Given the description of an element on the screen output the (x, y) to click on. 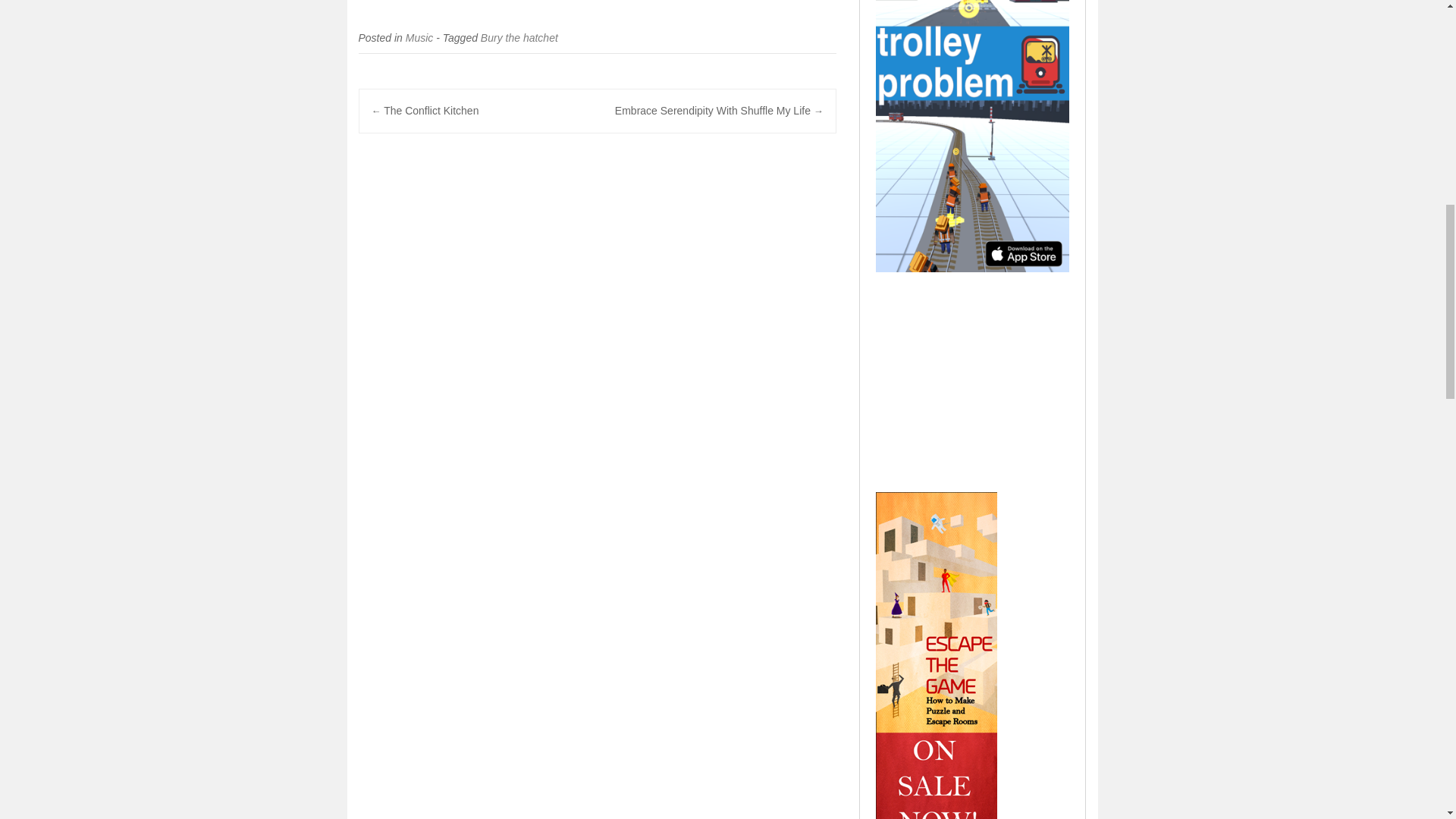
Bury the hatchet (518, 37)
Music (419, 37)
